Given the description of an element on the screen output the (x, y) to click on. 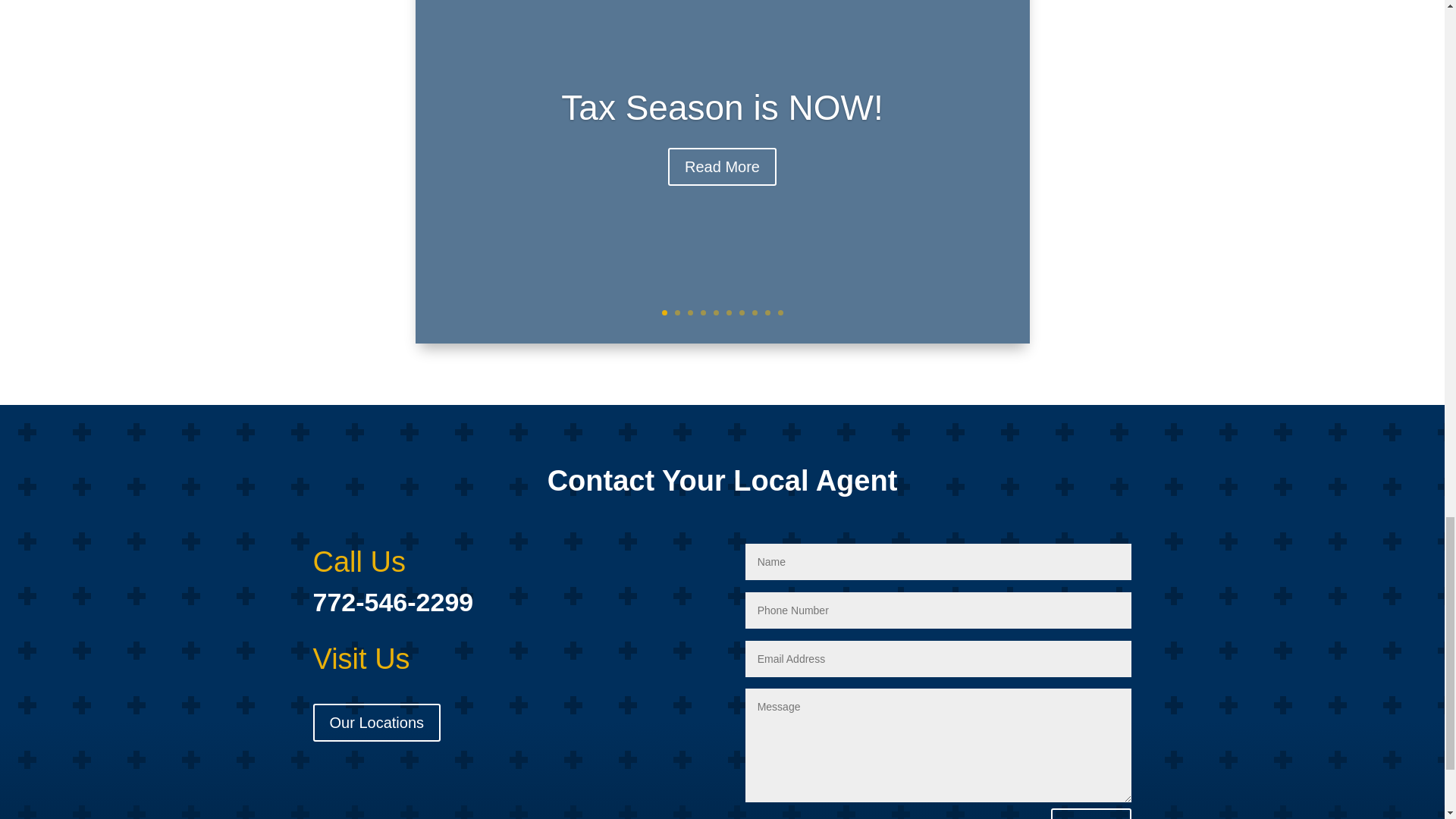
Read More (722, 179)
Tax Season is NOW! (721, 120)
